Given the description of an element on the screen output the (x, y) to click on. 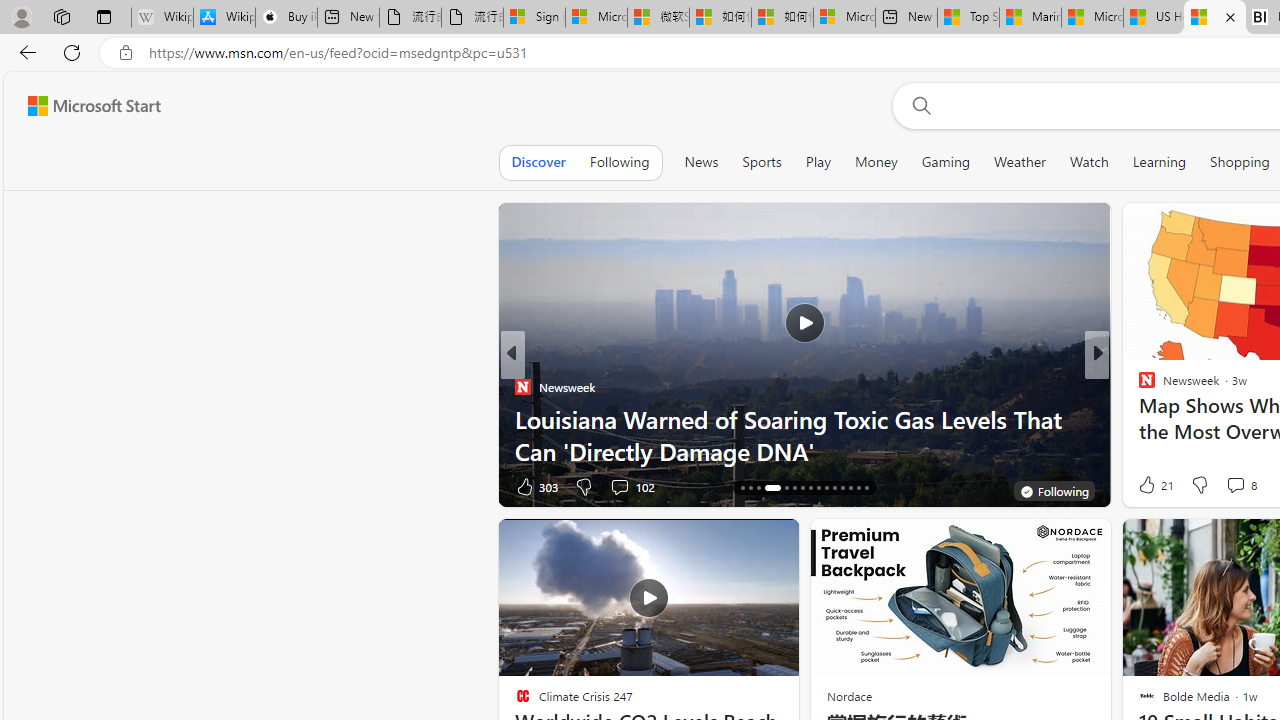
AutomationID: tab-28 (850, 487)
View comments 157 Comment (1247, 486)
AutomationID: tab-18 (757, 487)
Awful Funny US (1138, 418)
Newsweek (522, 386)
Windows Central (1138, 386)
AutomationID: tab-19 (772, 487)
View comments 3 Comment (1229, 485)
